Given the description of an element on the screen output the (x, y) to click on. 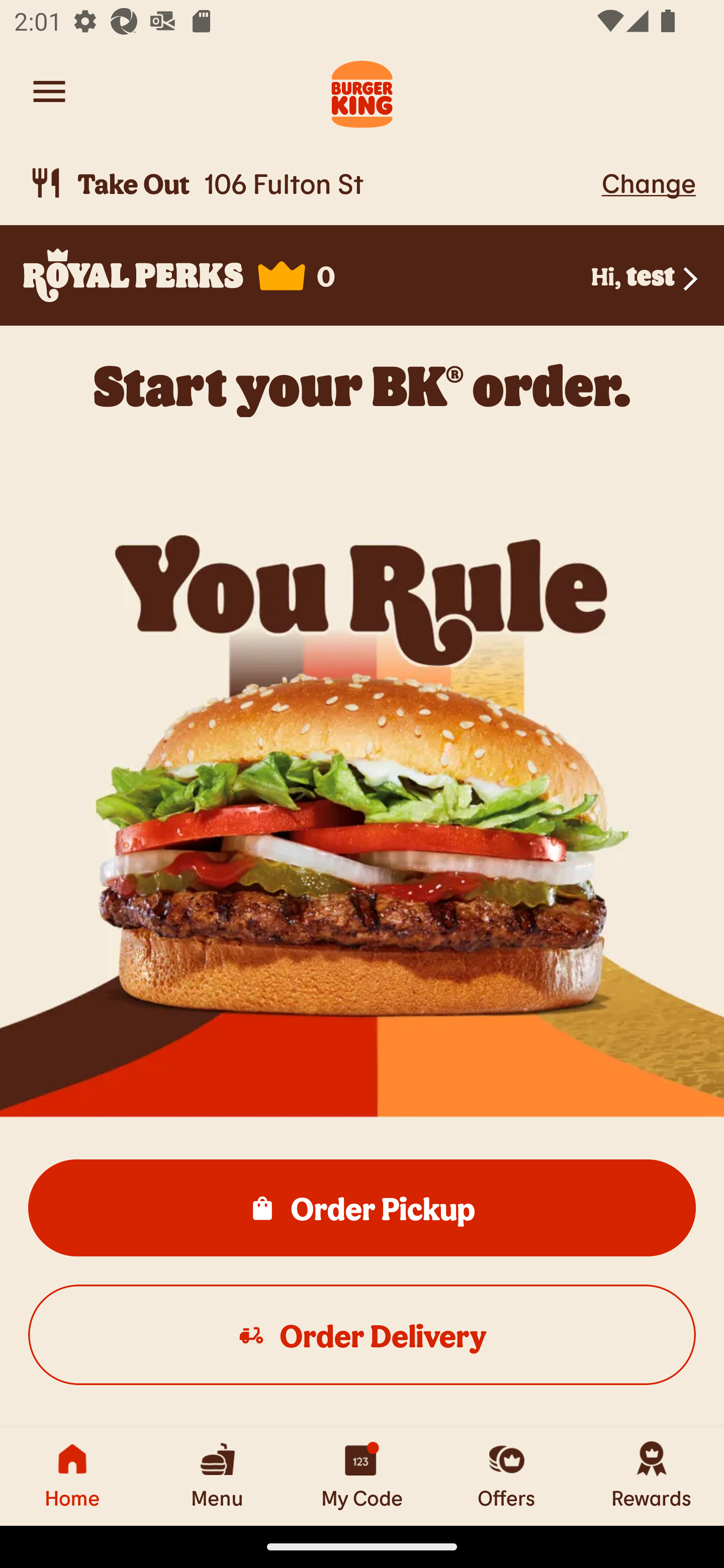
Burger King Logo. Navigate to Home (362, 91)
Navigate to account menu  (49, 91)
Take Out, 106 Fulton St  Take Out 106 Fulton St (311, 183)
Change (648, 182)
Start your BK® order. (361, 385)
, Order Pickup  Order Pickup (361, 1206)
, Order Delivery  Order Delivery (361, 1334)
Home (72, 1475)
Menu (216, 1475)
My Code (361, 1475)
Offers (506, 1475)
Rewards (651, 1475)
